Given the description of an element on the screen output the (x, y) to click on. 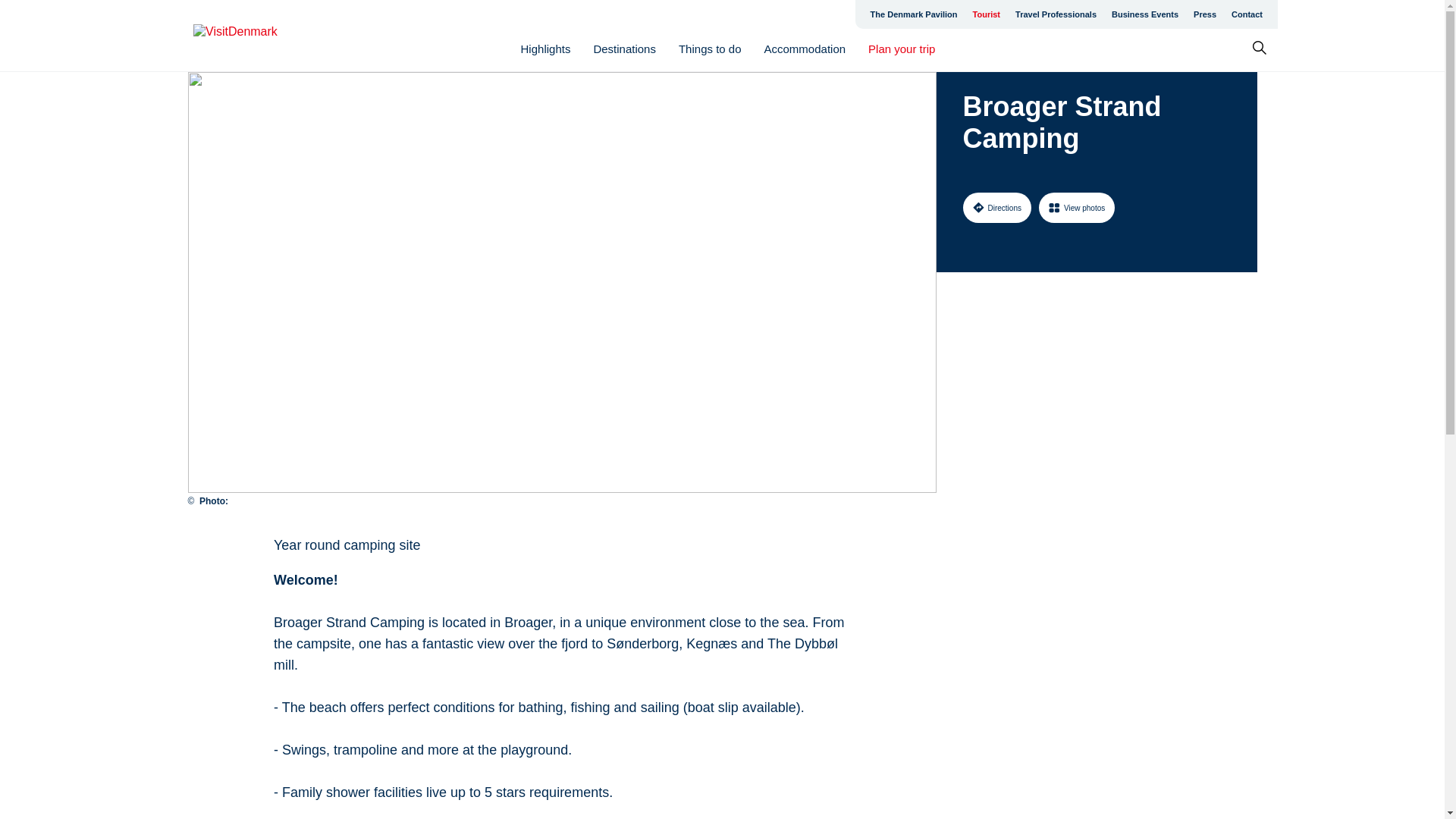
Plan your trip (900, 48)
Things to do (709, 48)
The Denmark Pavilion (914, 14)
Business Events (1144, 14)
Tourist (986, 14)
Go to homepage (253, 35)
Highlights (545, 48)
Directions (996, 207)
Destinations (624, 48)
Contact (1246, 14)
Accommodation (804, 48)
Travel Professionals (1055, 14)
View photos (1077, 207)
Press (1205, 14)
